Given the description of an element on the screen output the (x, y) to click on. 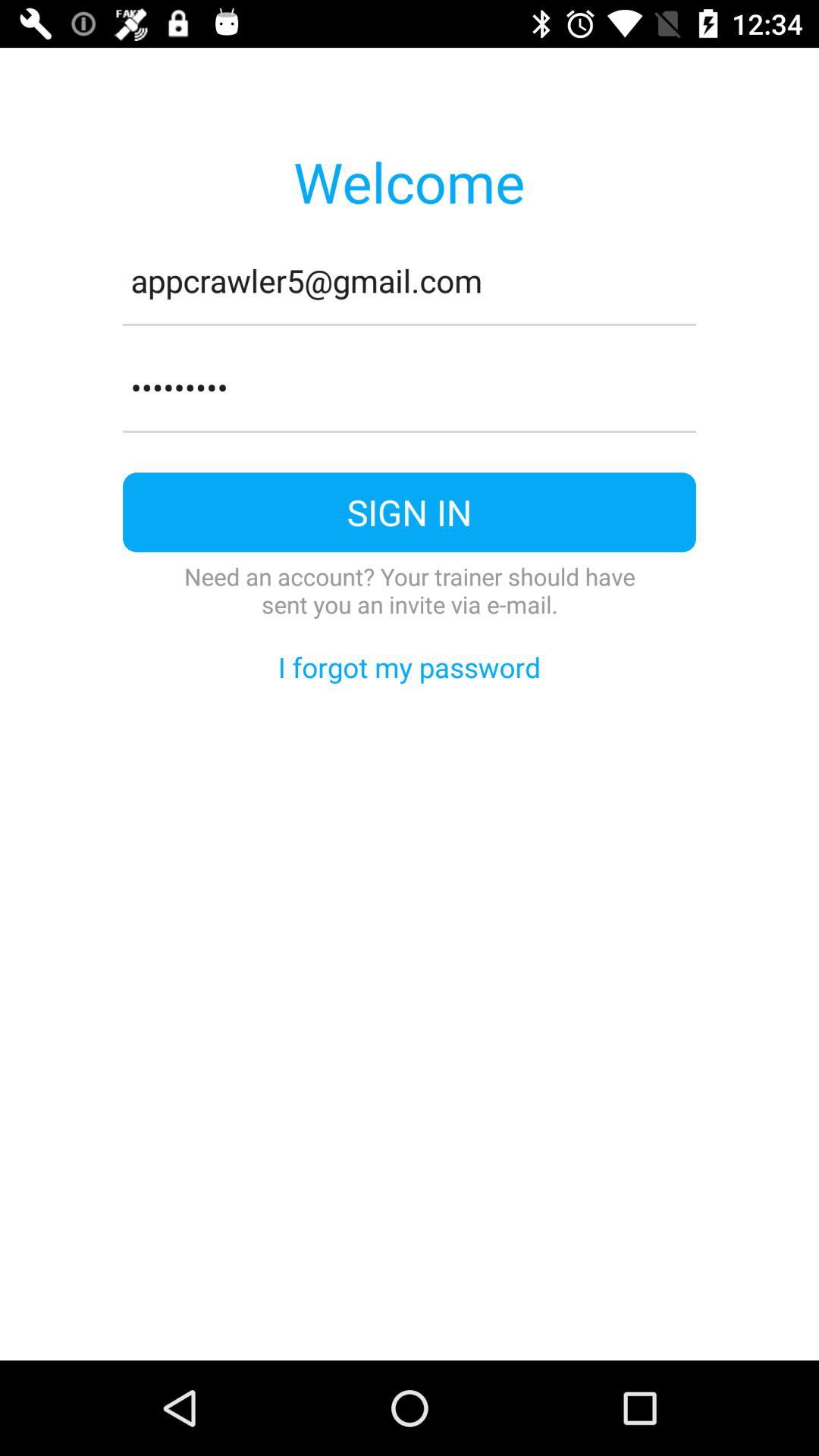
turn on appcrawler5@gmail.com item (409, 280)
